Given the description of an element on the screen output the (x, y) to click on. 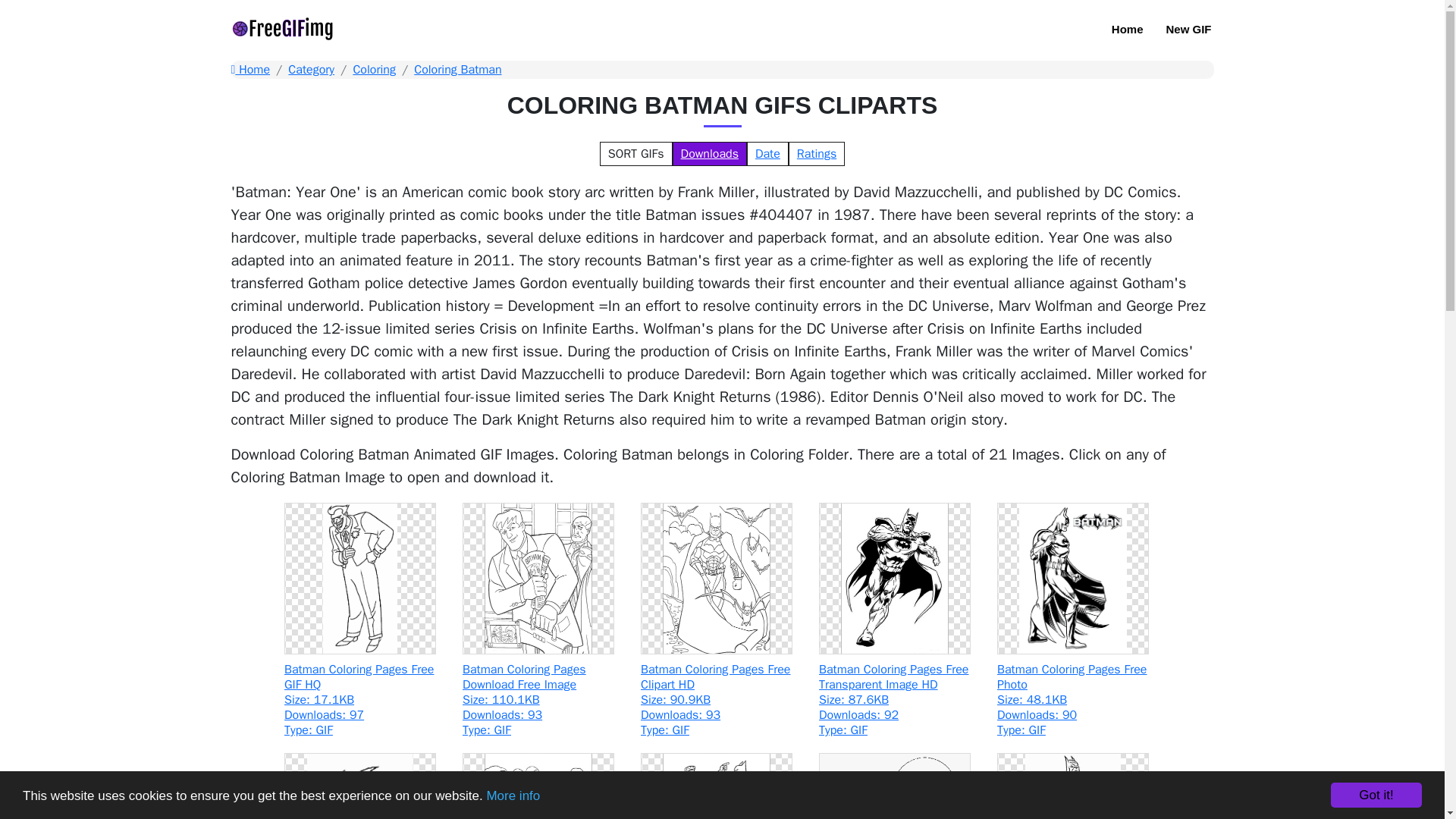
Coloring Batman (456, 69)
Home (1127, 29)
Downloads (709, 153)
Category (311, 69)
Ratings (816, 153)
Date (767, 153)
Coloring (374, 69)
New GIF (1187, 29)
